Given the description of an element on the screen output the (x, y) to click on. 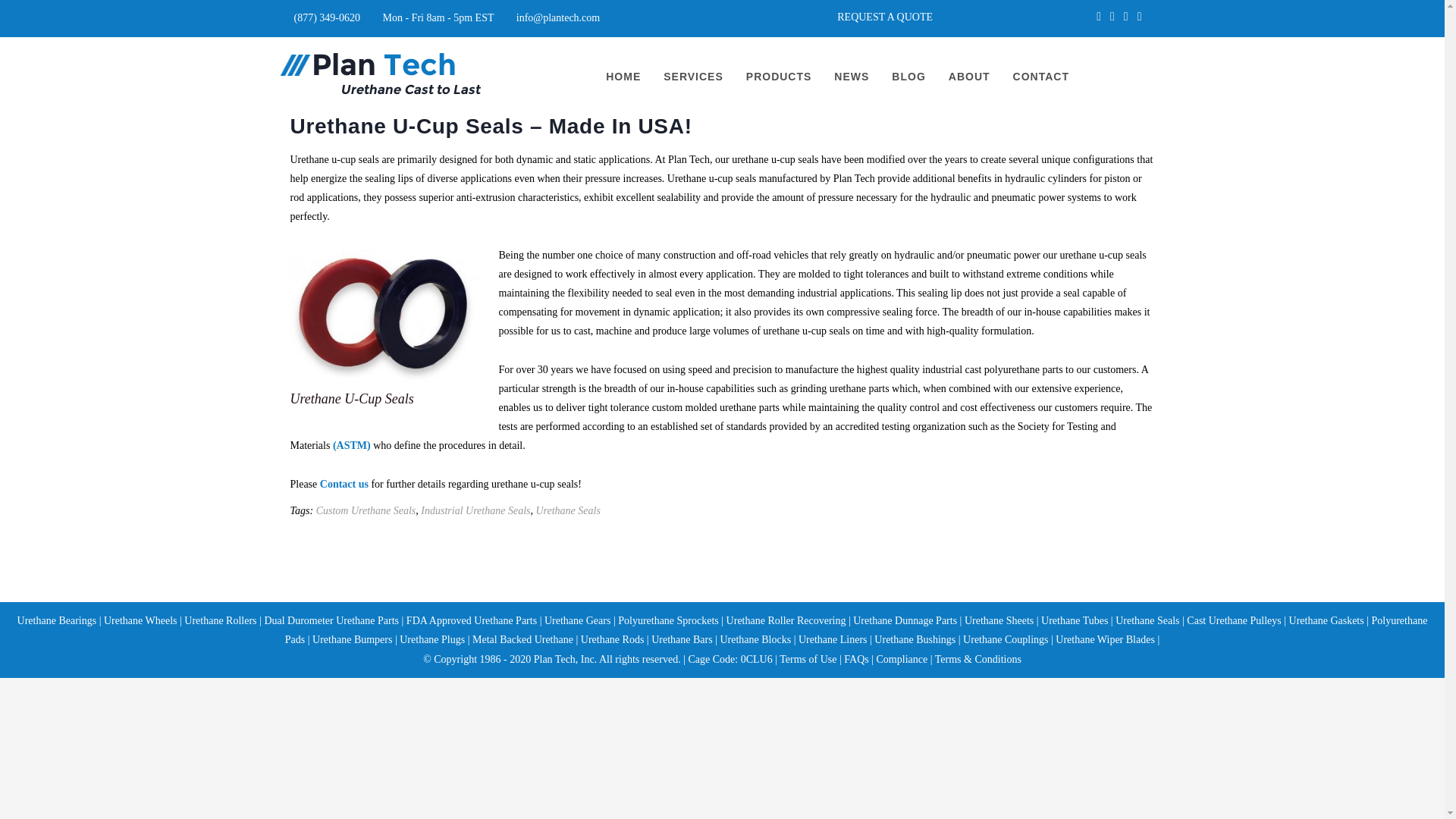
Dual Durometer Urethane Parts (330, 620)
Urethane Bearings (57, 620)
Urethane Dunnage Parts (904, 620)
Urethane Gears (577, 620)
Urethane Rollers (220, 620)
Urethane Wheels (138, 620)
Search (41, 16)
Urethane Sheets (998, 620)
Cast Urethane Pulleys (1233, 620)
Contact us (344, 483)
